Given the description of an element on the screen output the (x, y) to click on. 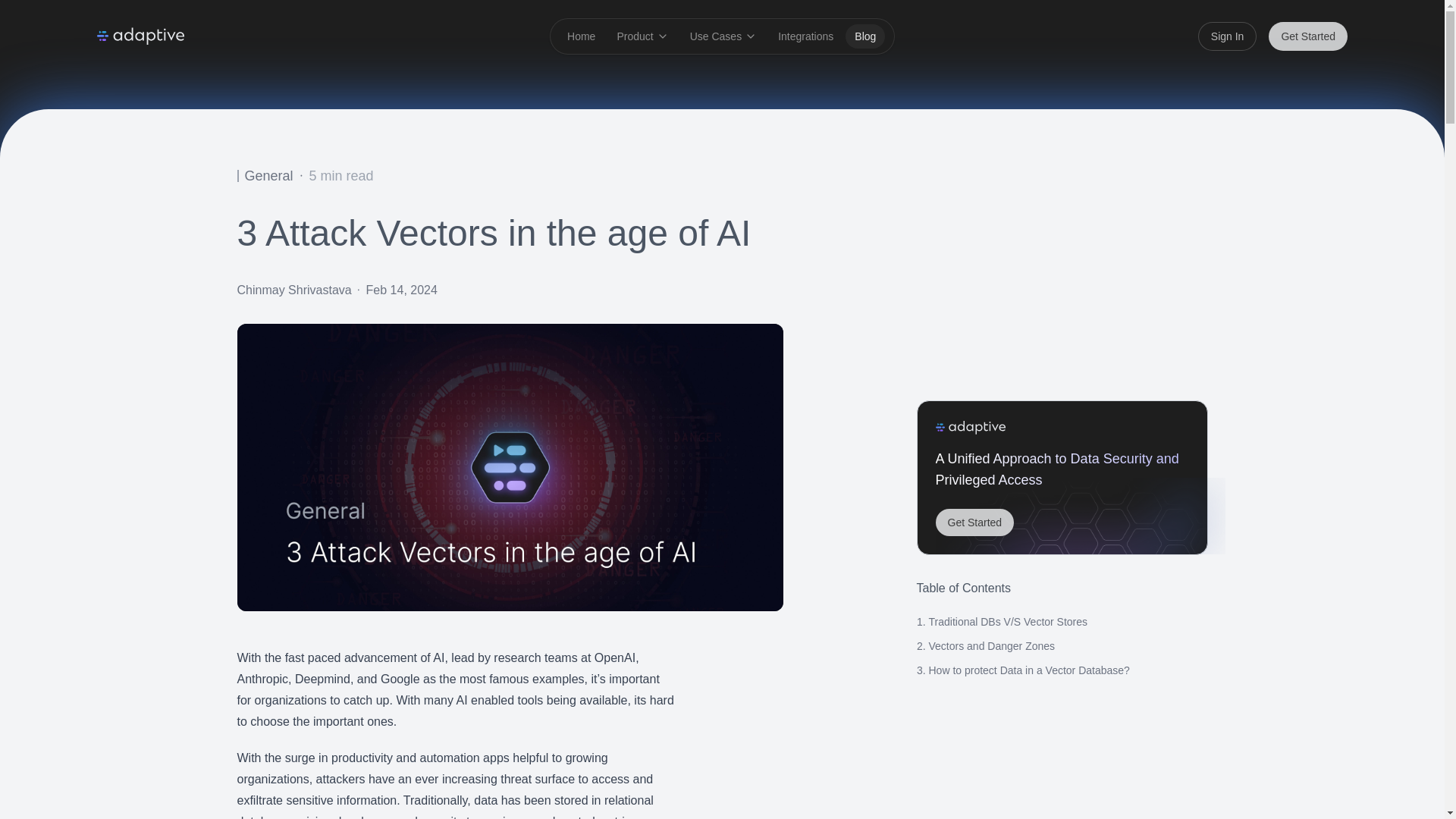
Vectors and Danger Zones (991, 645)
How to protect Data in a Vector Database? (1028, 670)
Home (580, 36)
Get Started (975, 522)
Get Started (1308, 36)
Sign In (1227, 36)
Blog (865, 36)
Integrations (805, 36)
